Given the description of an element on the screen output the (x, y) to click on. 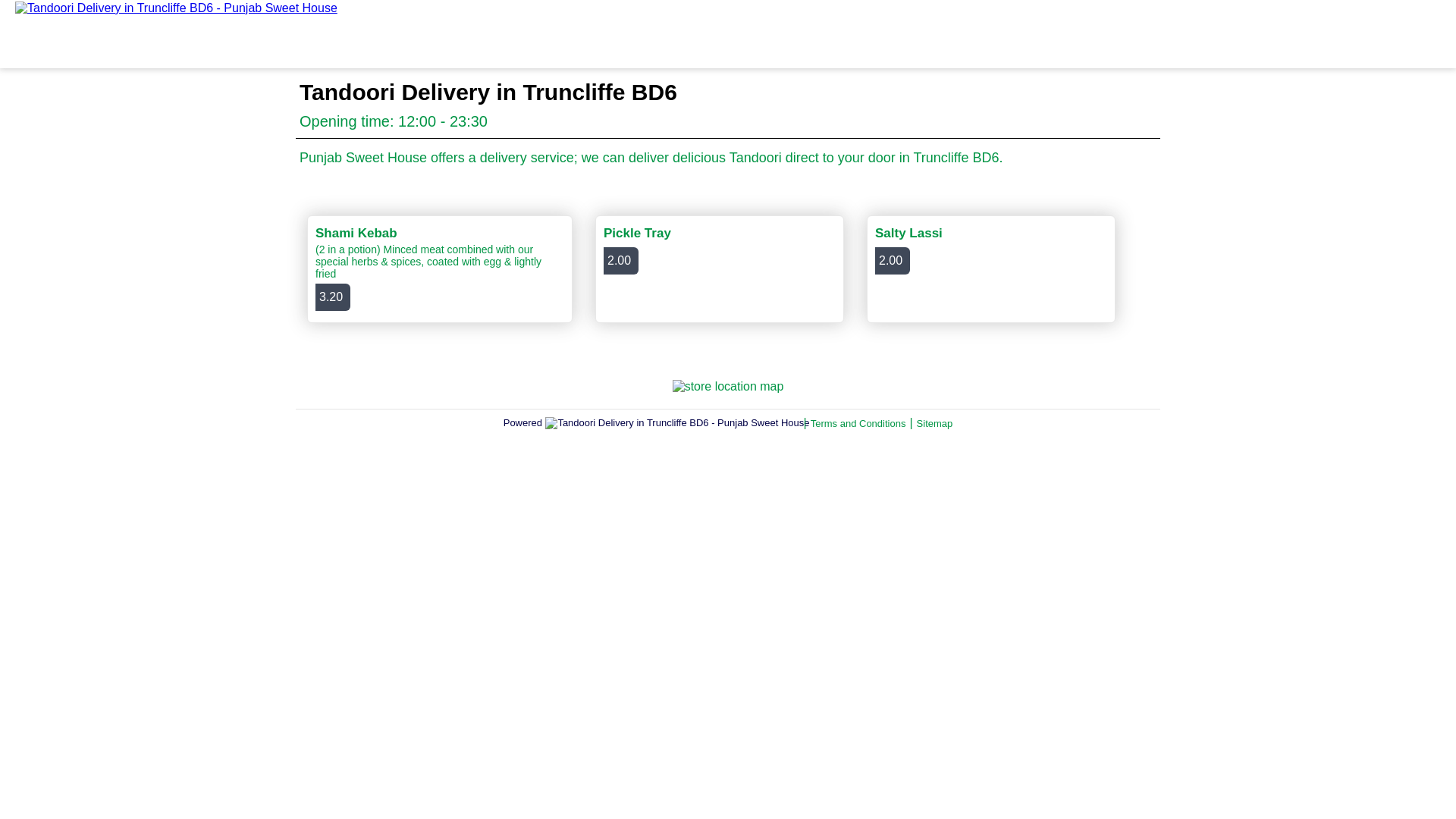
Terms and Conditions (858, 422)
Sitemap (934, 422)
Powered by (719, 268)
